Given the description of an element on the screen output the (x, y) to click on. 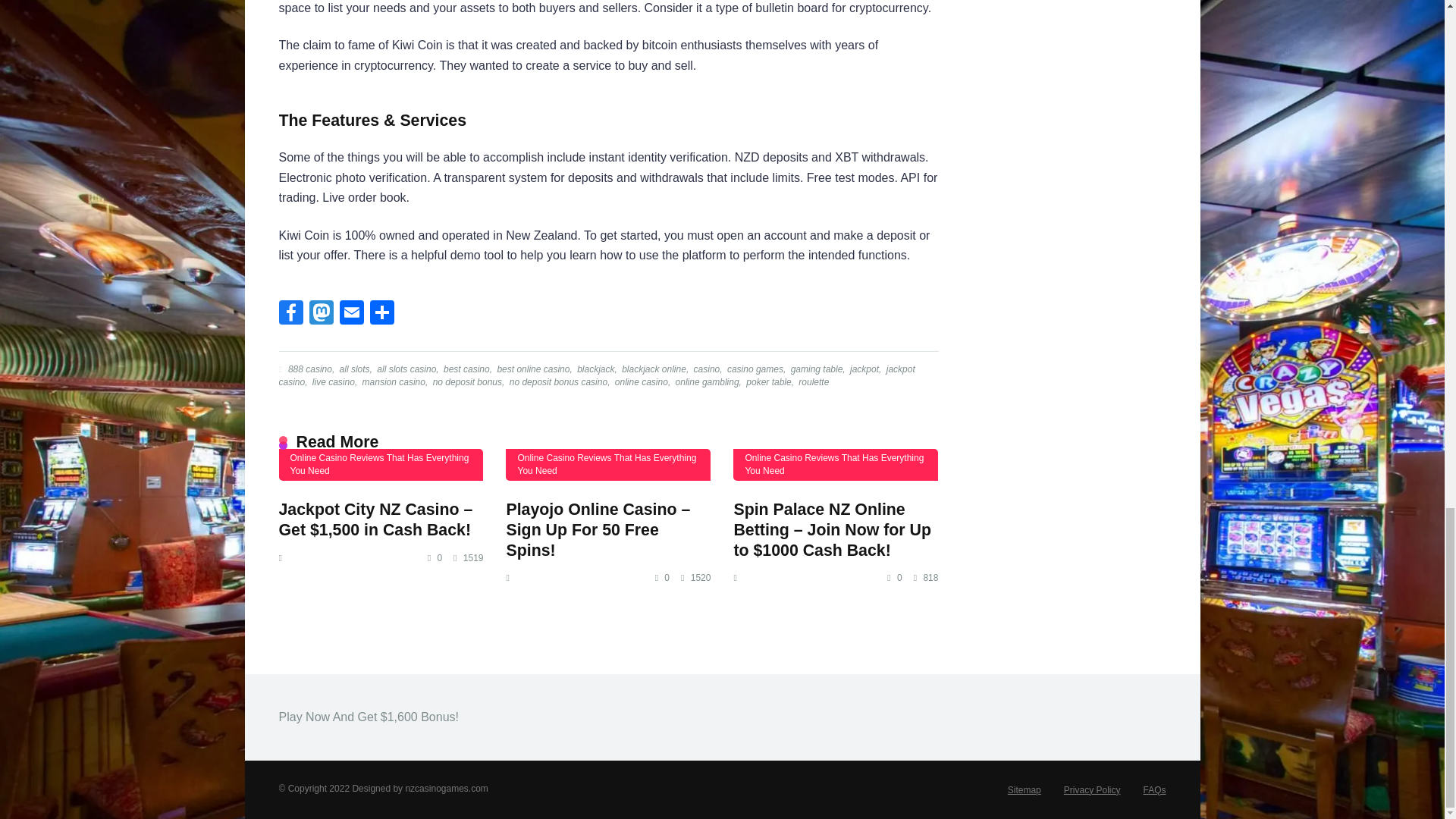
gaming table (816, 368)
Mastodon (320, 314)
blackjack (594, 368)
Facebook (290, 314)
Email (351, 314)
blackjack online (652, 368)
Facebook (290, 314)
casino games (754, 368)
Share (381, 314)
888 casino (308, 368)
best online casino (532, 368)
Mastodon (320, 314)
best casino (465, 368)
casino (705, 368)
all slots casino (404, 368)
